Given the description of an element on the screen output the (x, y) to click on. 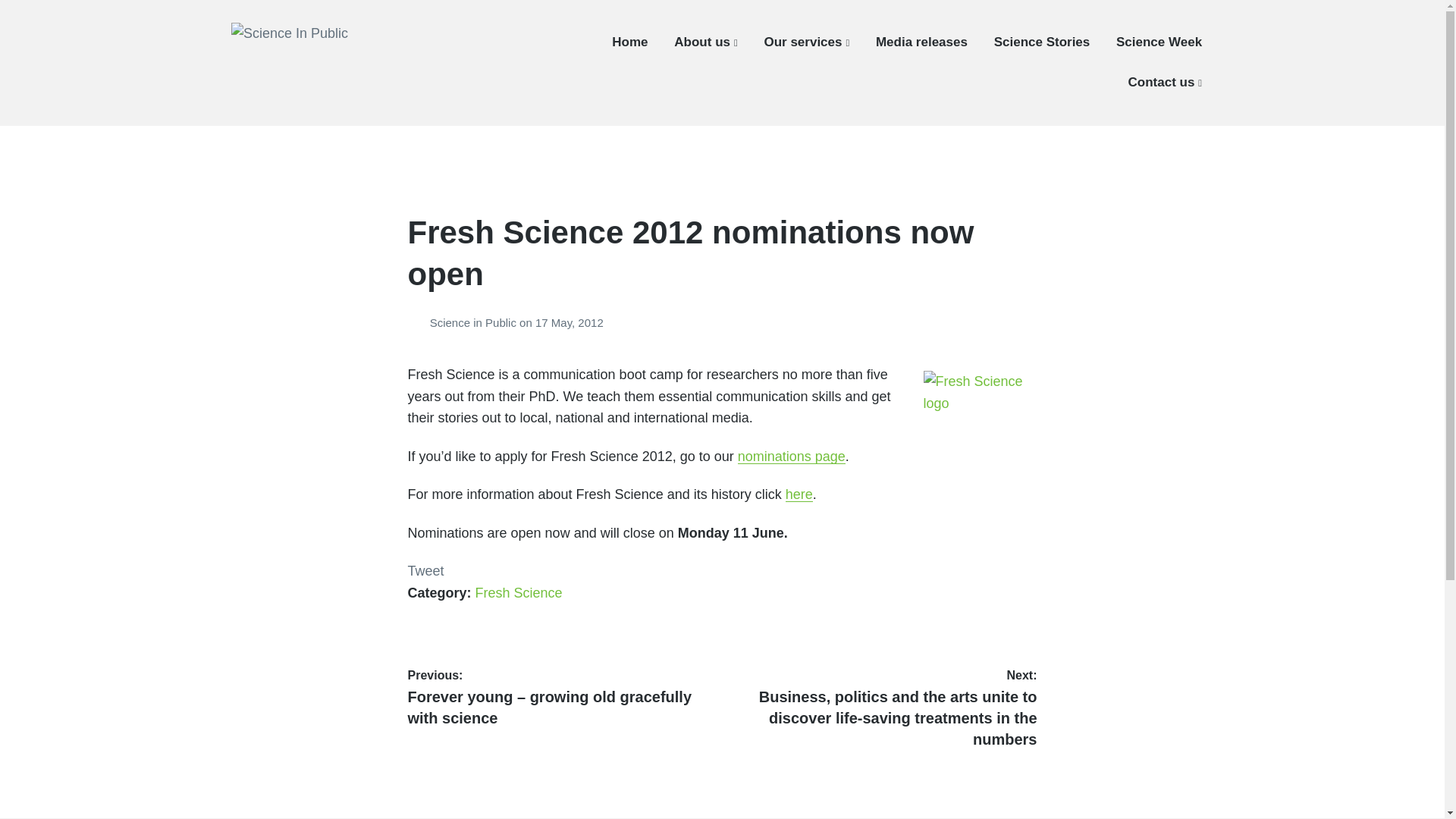
Our services (805, 42)
Posts by Science in Public (418, 322)
Science Stories (1042, 42)
Contact us (1165, 82)
Science In Public (312, 78)
Fresh Science logo (979, 391)
Home (629, 42)
About us (705, 42)
Media releases (922, 42)
Science Week (1159, 42)
